Given the description of an element on the screen output the (x, y) to click on. 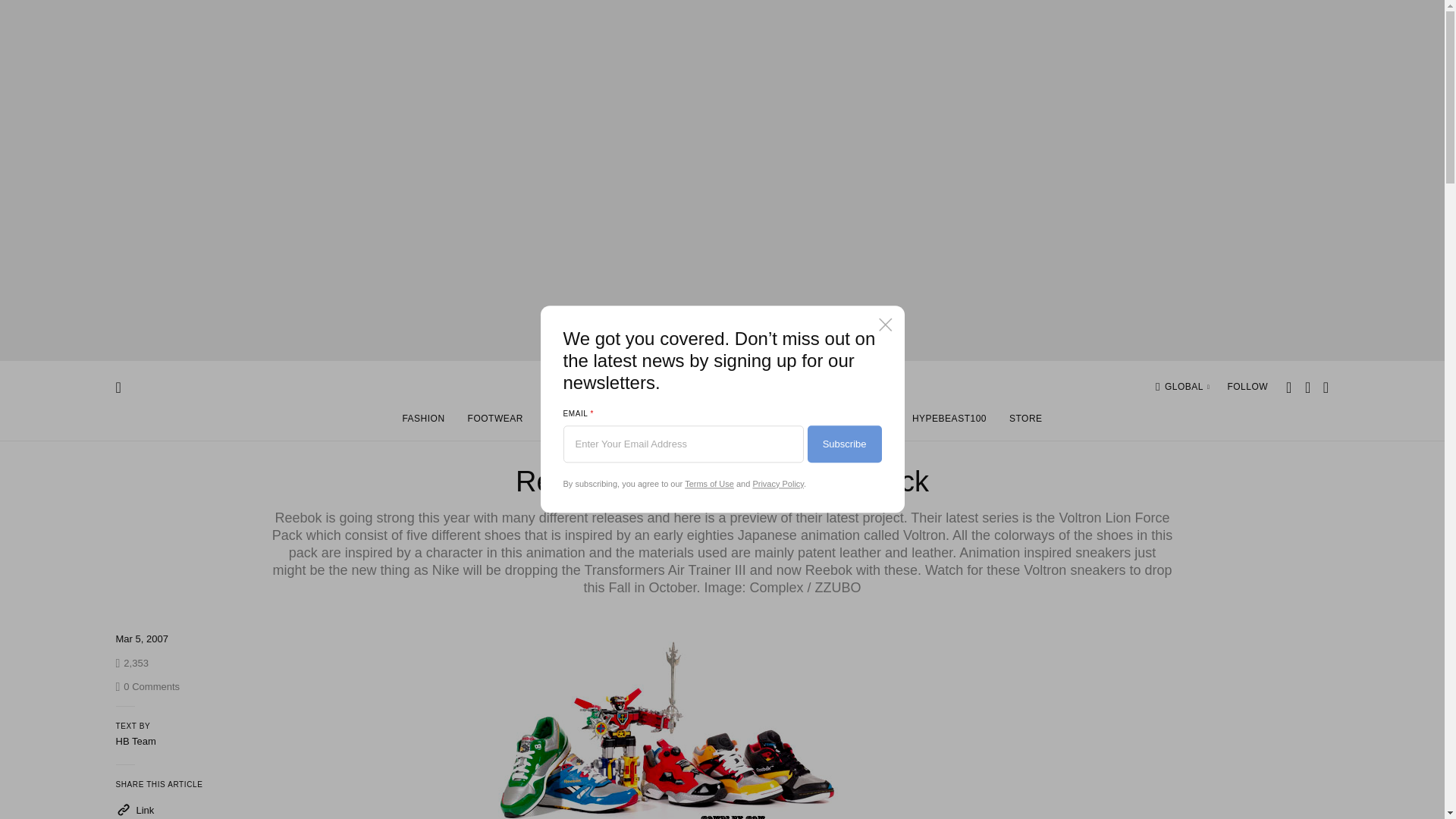
DESIGN (606, 421)
MUSIC (663, 421)
3rd party ad content (1213, 720)
BRANDS (795, 421)
FOLLOW (1247, 387)
LIFESTYLE (727, 421)
HB Team (135, 740)
HYPEBEAST100 (949, 421)
MAGAZINE (864, 421)
ART (555, 421)
FASHION (422, 421)
GLOBAL (147, 686)
STORE (1187, 387)
3rd party ad content (1025, 421)
